Given the description of an element on the screen output the (x, y) to click on. 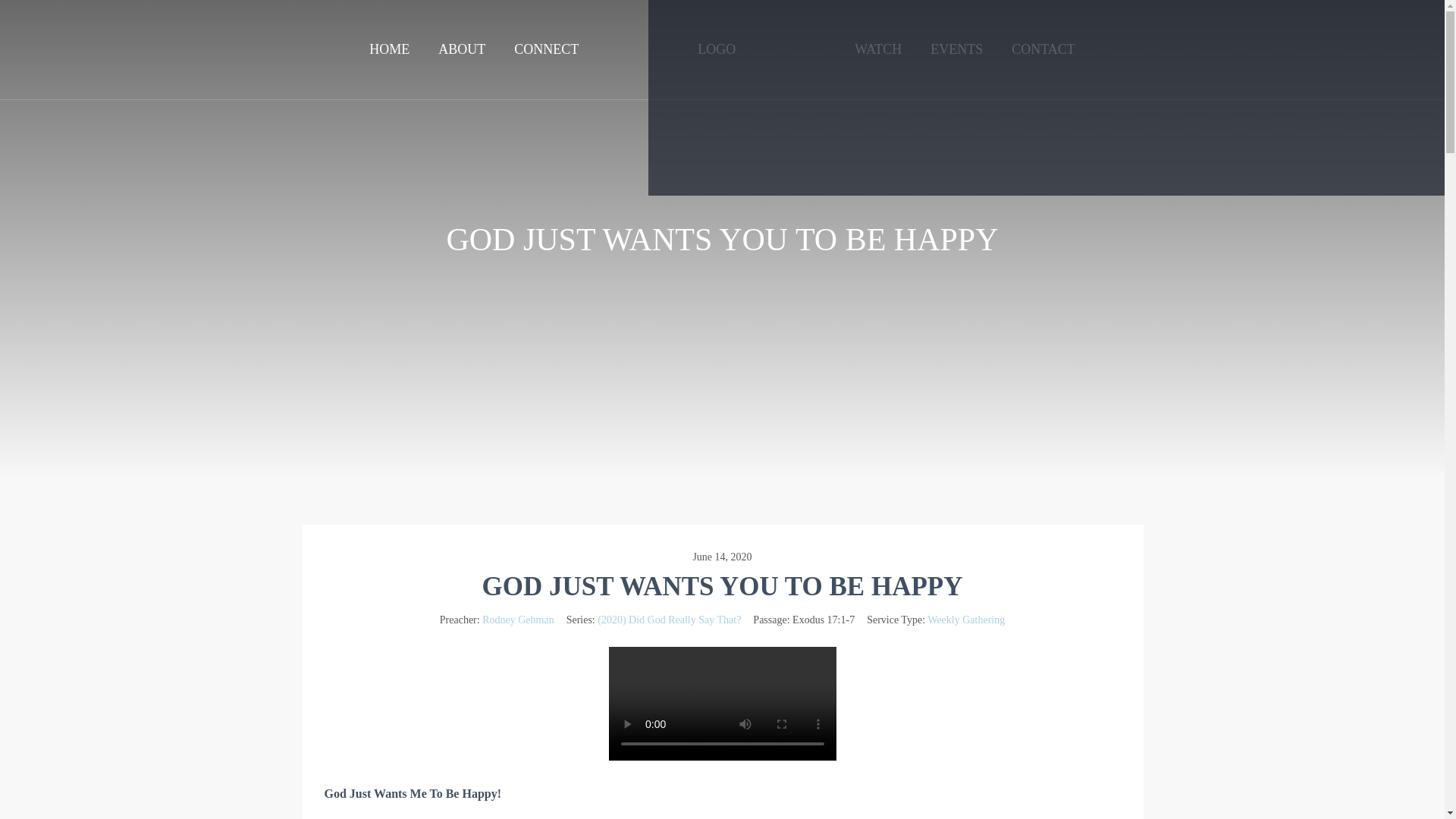
Share via Facebook (784, 97)
LOGO (715, 73)
Share via Instagram (1046, 97)
Rodney Gehman (517, 619)
CONTACT (1043, 49)
CONNECT (545, 49)
Weekly Gathering (965, 619)
Share via Twitter (1307, 97)
